Given the description of an element on the screen output the (x, y) to click on. 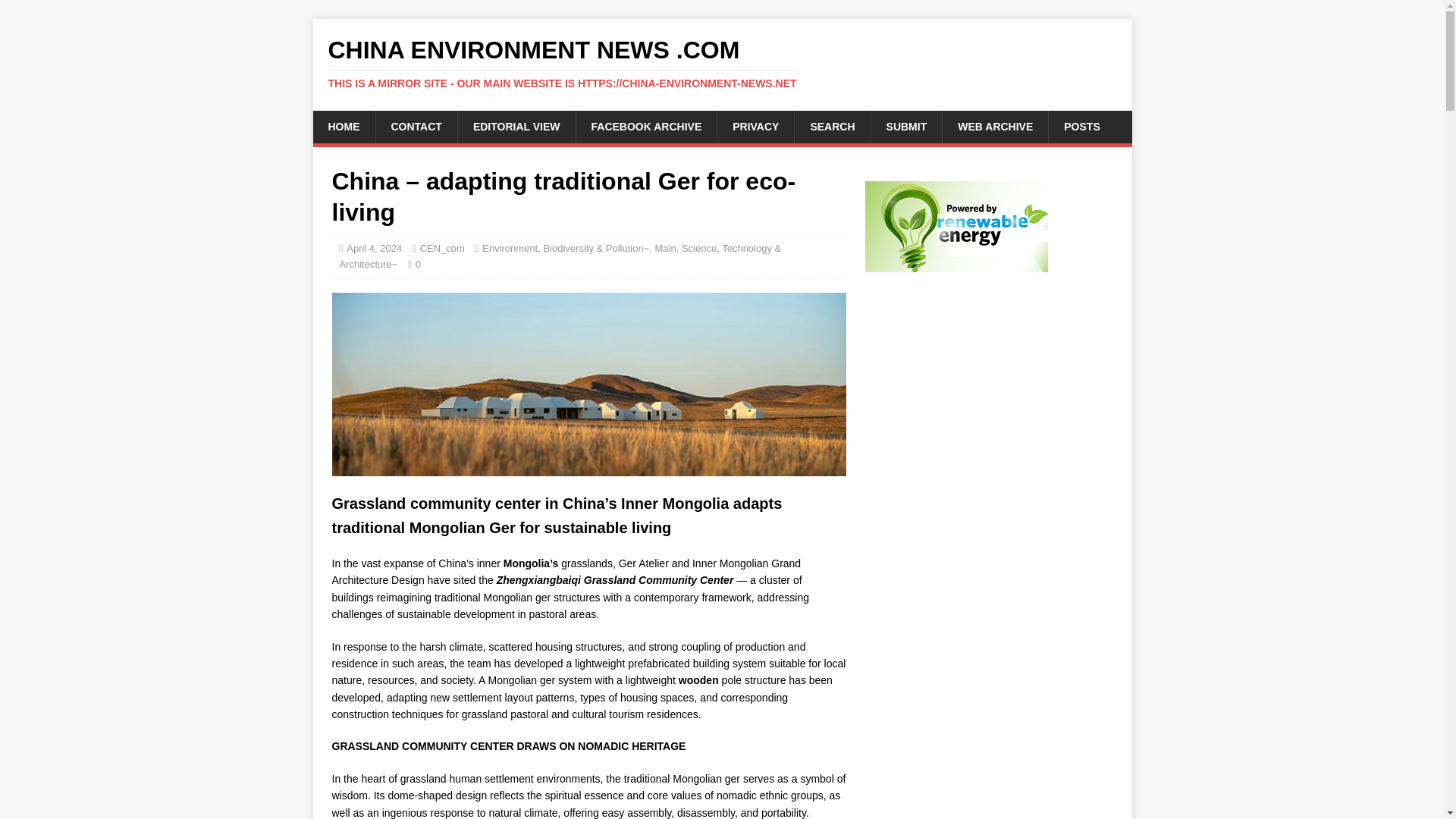
China Environment News  .Com (721, 63)
POSTS (1081, 126)
PRIVACY (754, 126)
April 4, 2024 (373, 247)
SEARCH (831, 126)
WEB ARCHIVE (995, 126)
the-new-construction-of-the-grasslands-1-660bef6c26ceb (588, 383)
FACEBOOK ARCHIVE (646, 126)
CONTACT (415, 126)
EDITORIAL VIEW (516, 126)
